Given the description of an element on the screen output the (x, y) to click on. 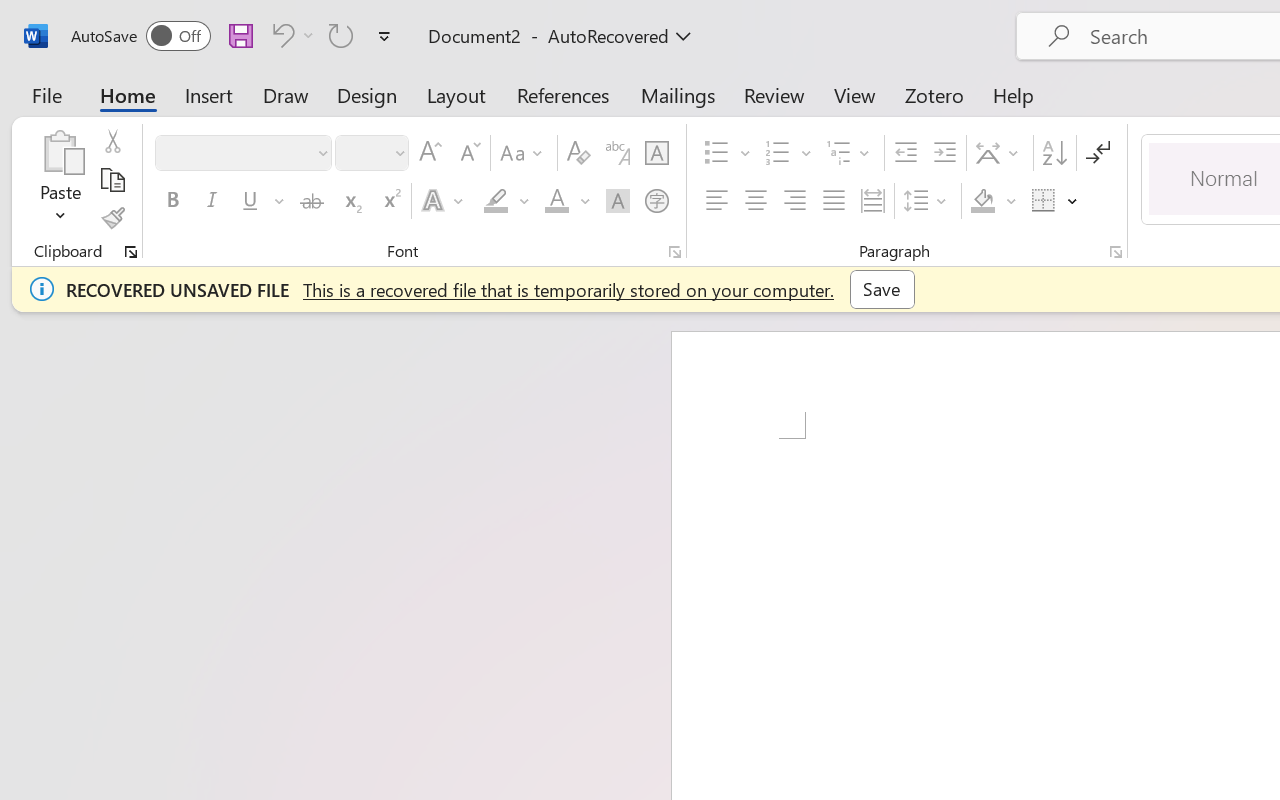
Center (756, 201)
Enclose Characters... (656, 201)
Can't Repeat (341, 35)
Align Right (794, 201)
Font Color RGB(255, 0, 0) (556, 201)
Sort... (1054, 153)
Copy (112, 179)
Text Effects and Typography (444, 201)
Grow Font (430, 153)
